Given the description of an element on the screen output the (x, y) to click on. 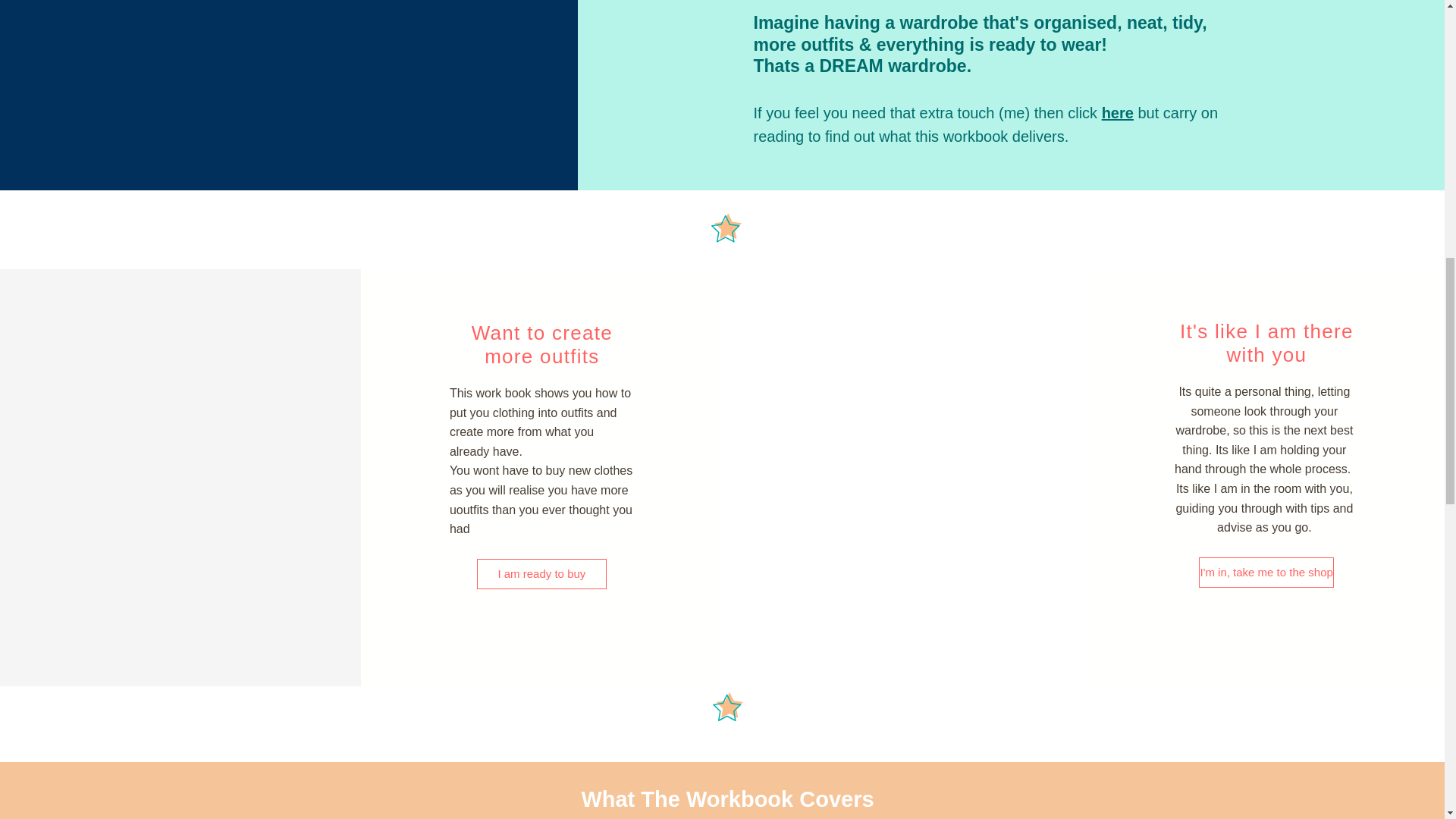
I'm in, take me to the shop (1265, 572)
I am ready to buy (542, 573)
here (1118, 112)
